Given the description of an element on the screen output the (x, y) to click on. 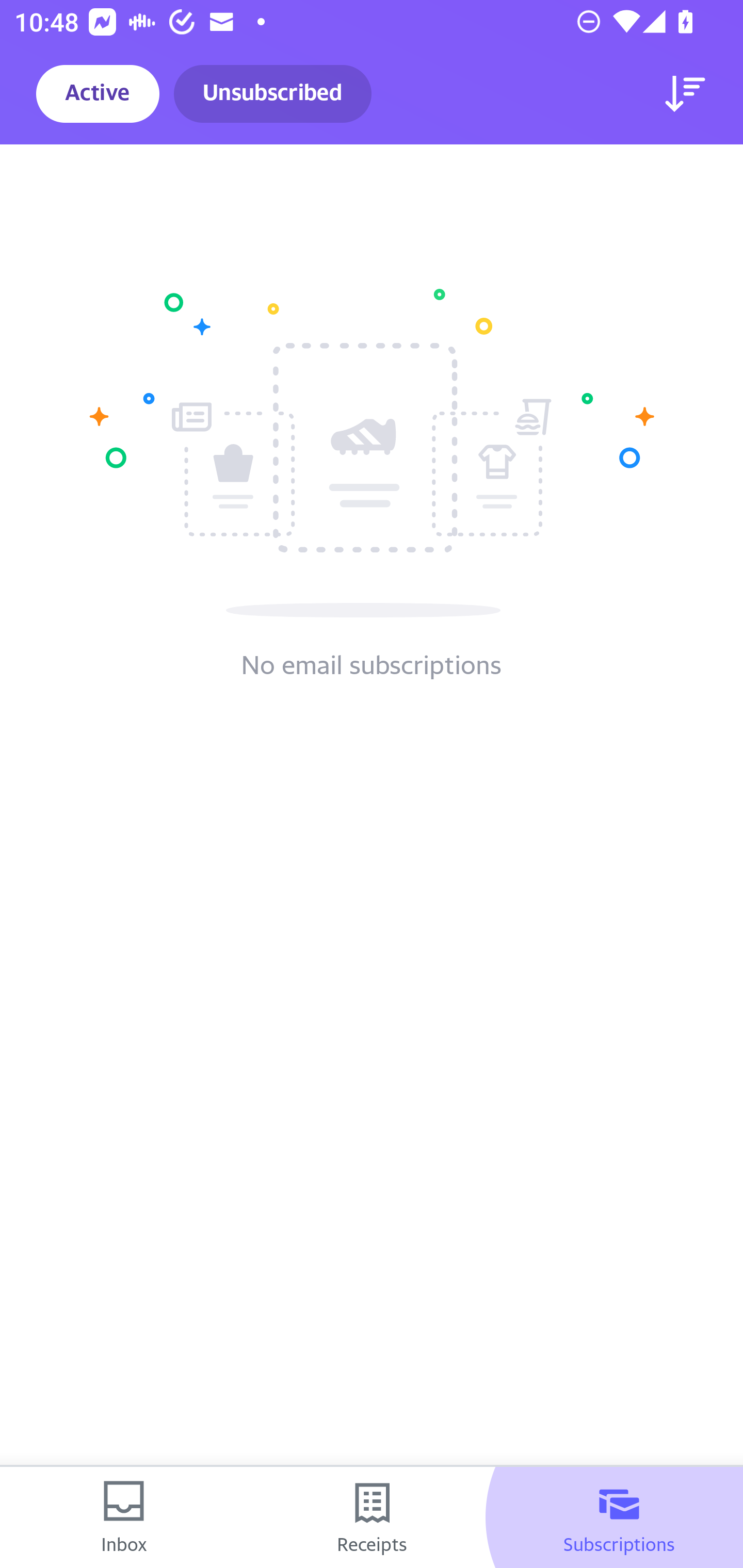
Unsubscribed (272, 93)
Sort (684, 93)
Inbox (123, 1517)
Receipts (371, 1517)
Subscriptions (619, 1517)
